Given the description of an element on the screen output the (x, y) to click on. 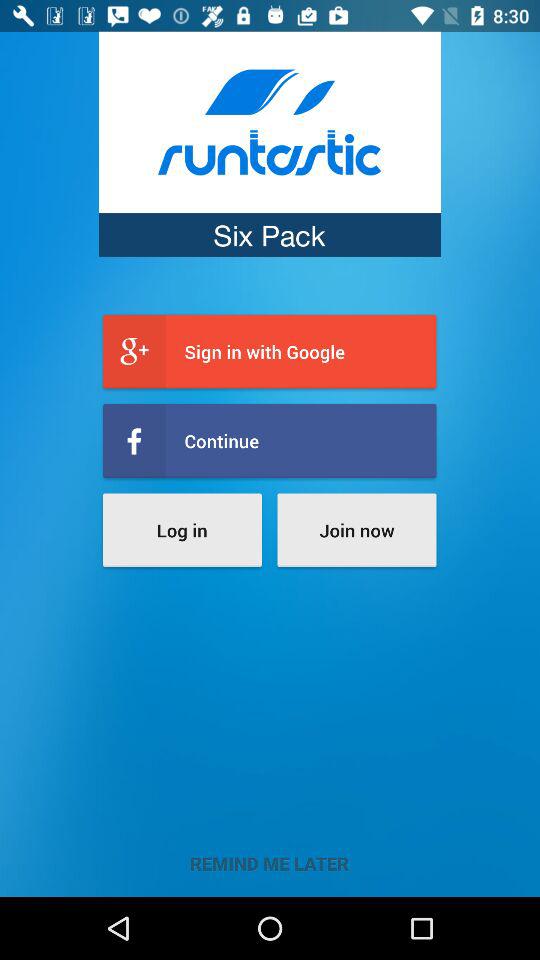
turn off item next to join now (182, 529)
